Given the description of an element on the screen output the (x, y) to click on. 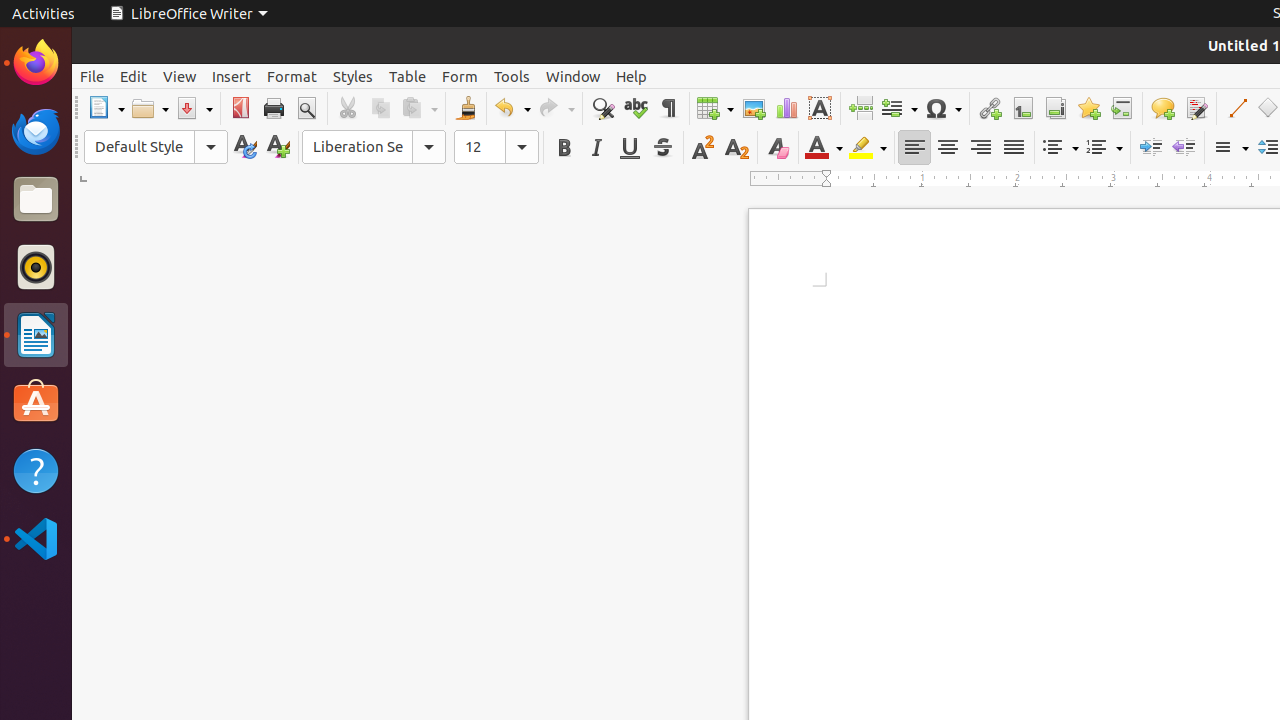
Highlight Color Element type: push-button (868, 147)
Edit Element type: menu (133, 76)
Superscript Element type: toggle-button (703, 147)
Cross-reference Element type: push-button (1121, 108)
Chart Element type: push-button (786, 108)
